Given the description of an element on the screen output the (x, y) to click on. 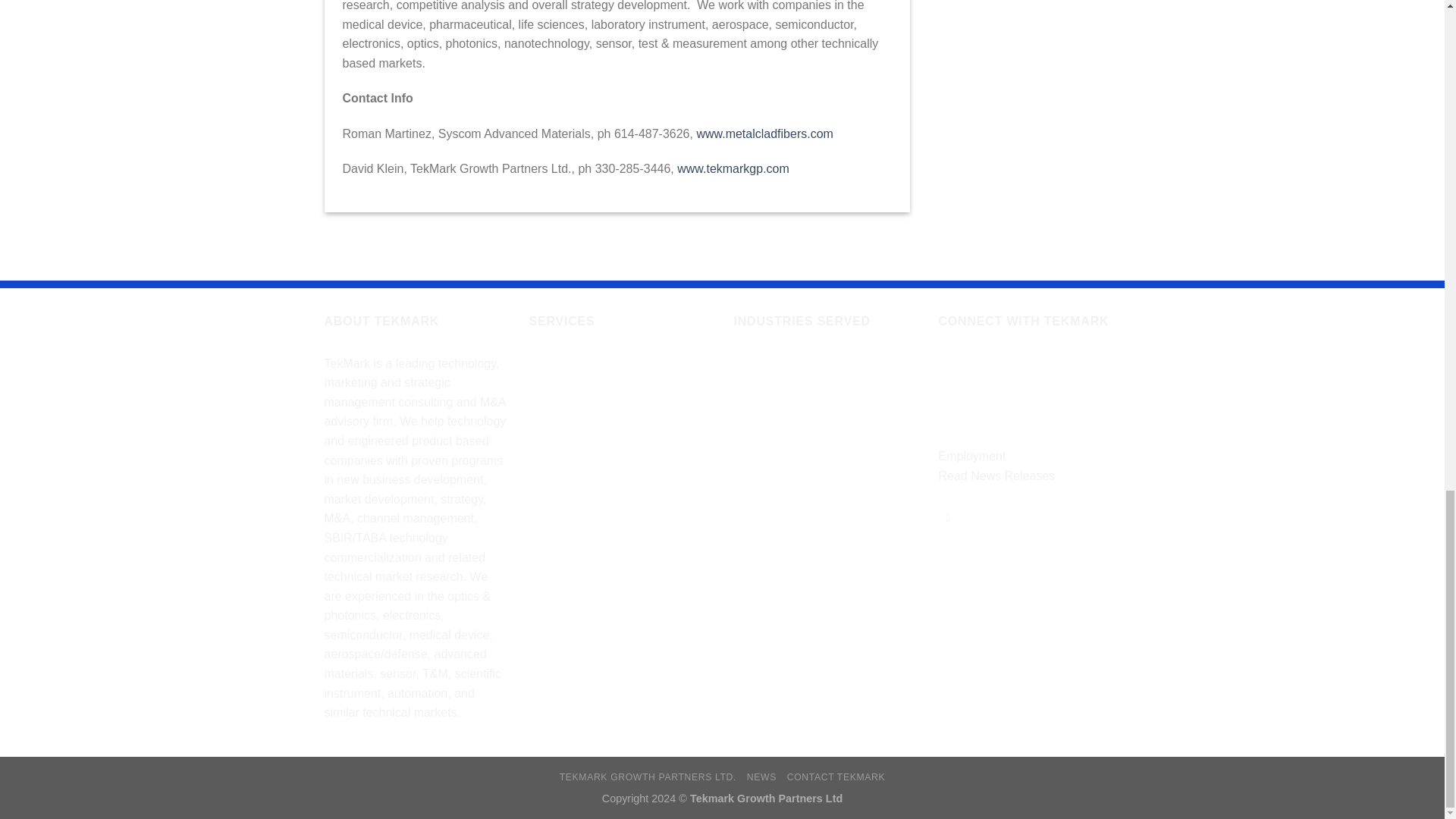
www.tekmarkgp.com (733, 168)
www.metalcladfibers.com (763, 133)
